Given the description of an element on the screen output the (x, y) to click on. 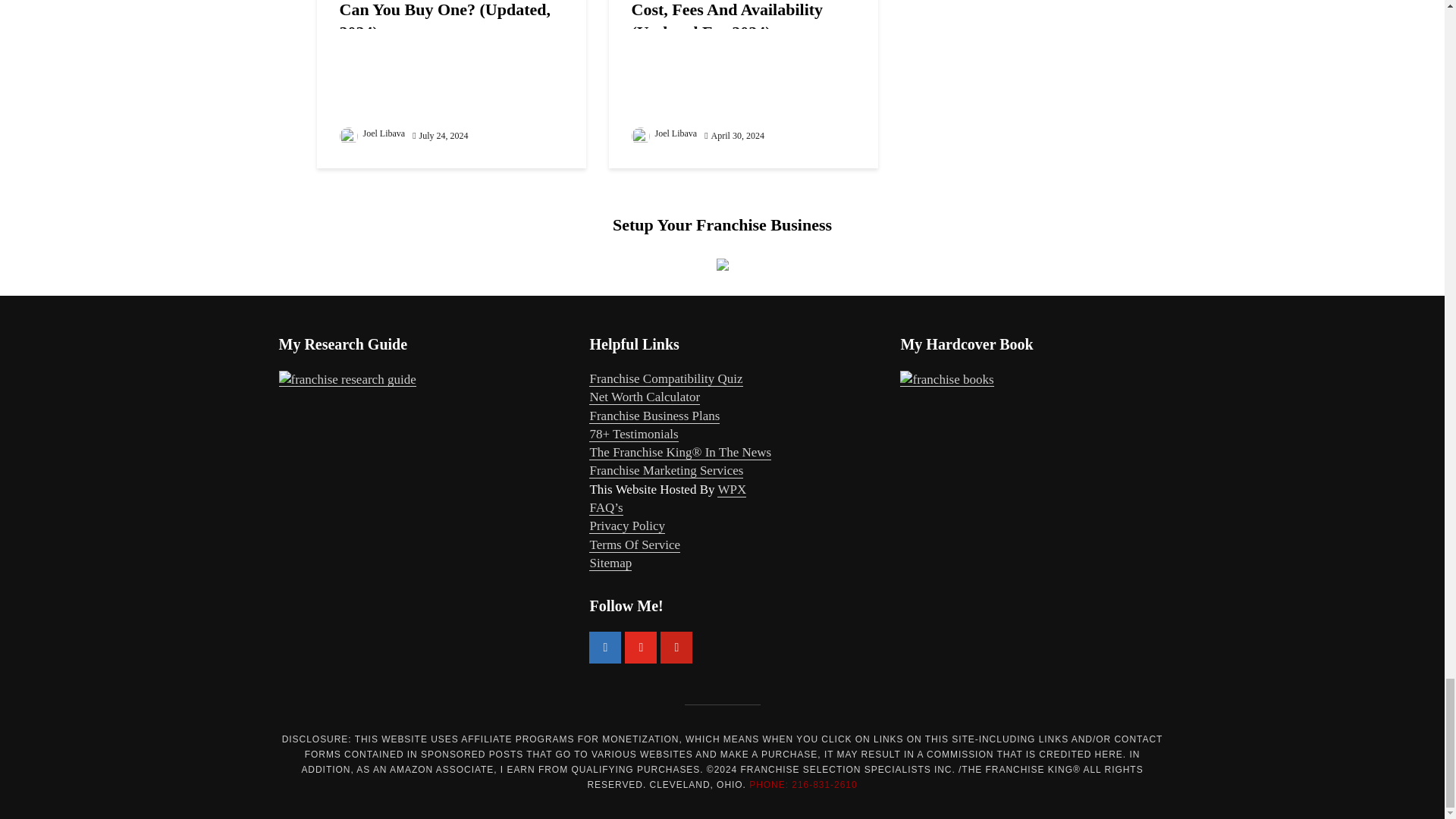
Pinterest (677, 647)
press releases the franchise king (680, 452)
YouTube (640, 647)
Linkedin (605, 647)
